Given the description of an element on the screen output the (x, y) to click on. 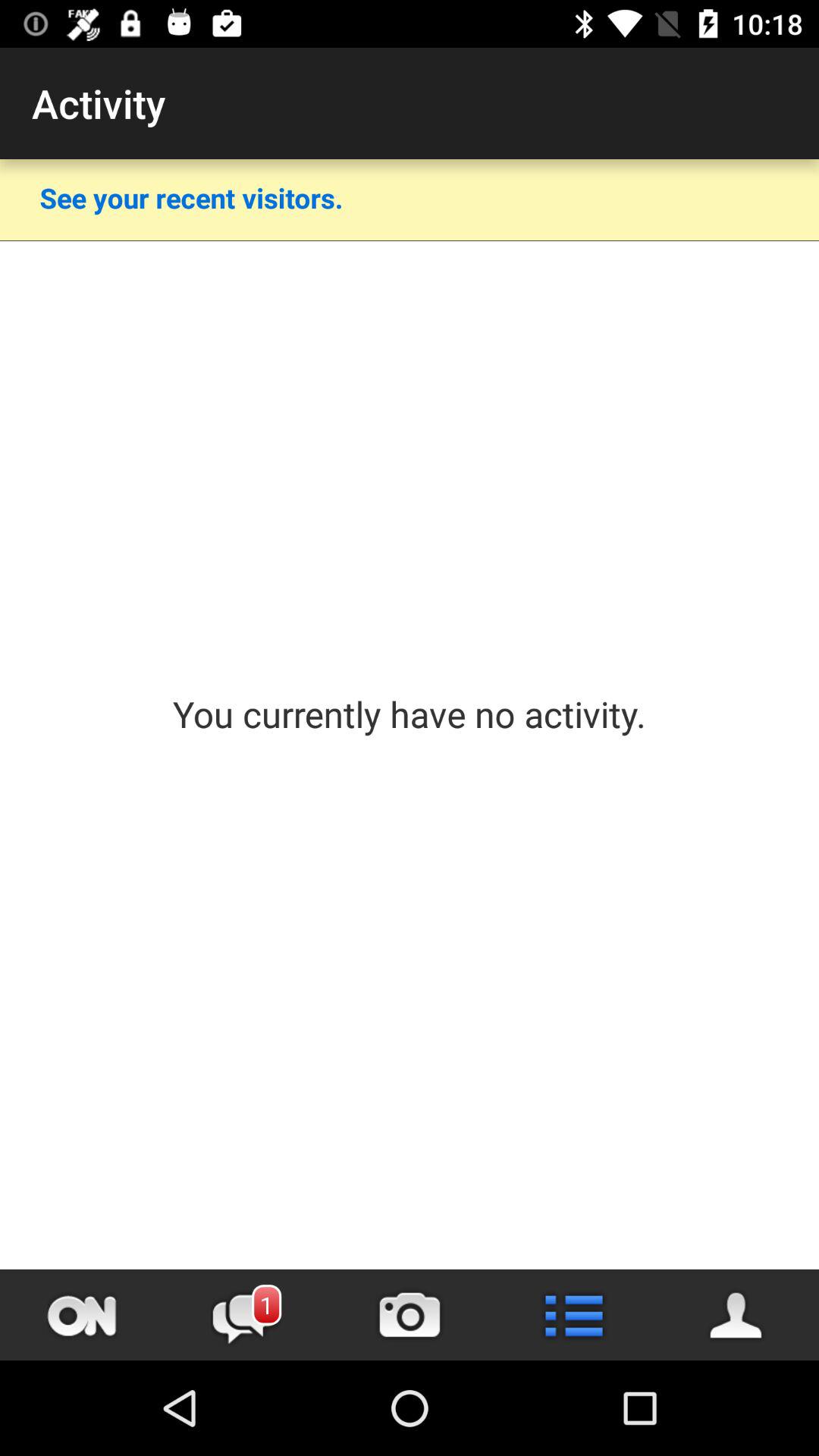
list button (573, 1315)
